Given the description of an element on the screen output the (x, y) to click on. 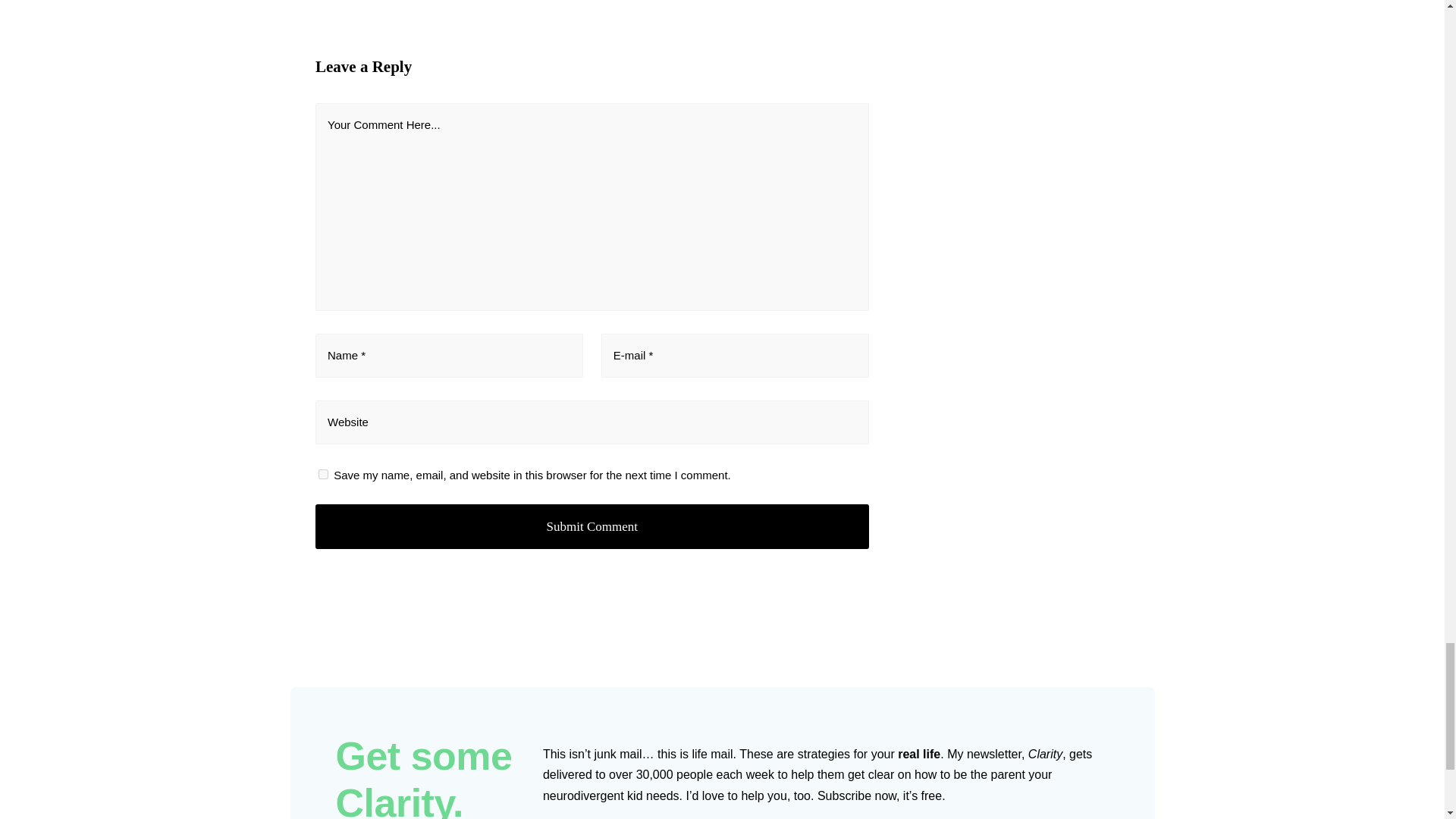
yes (323, 474)
Submit Comment (592, 526)
